Given the description of an element on the screen output the (x, y) to click on. 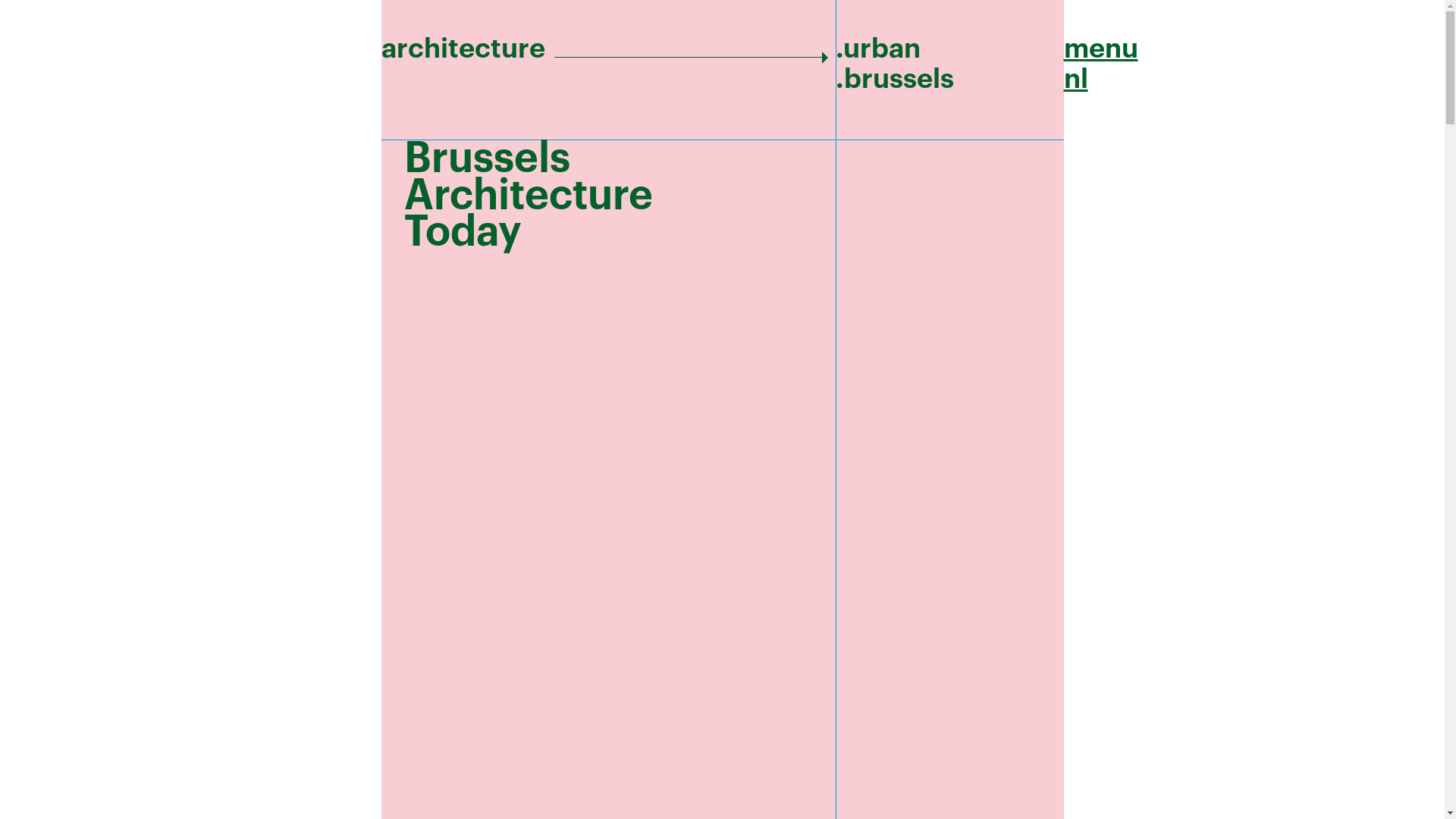
nl Element type: text (1075, 78)
architecture
.urban
.brussels Element type: text (721, 64)
